Given the description of an element on the screen output the (x, y) to click on. 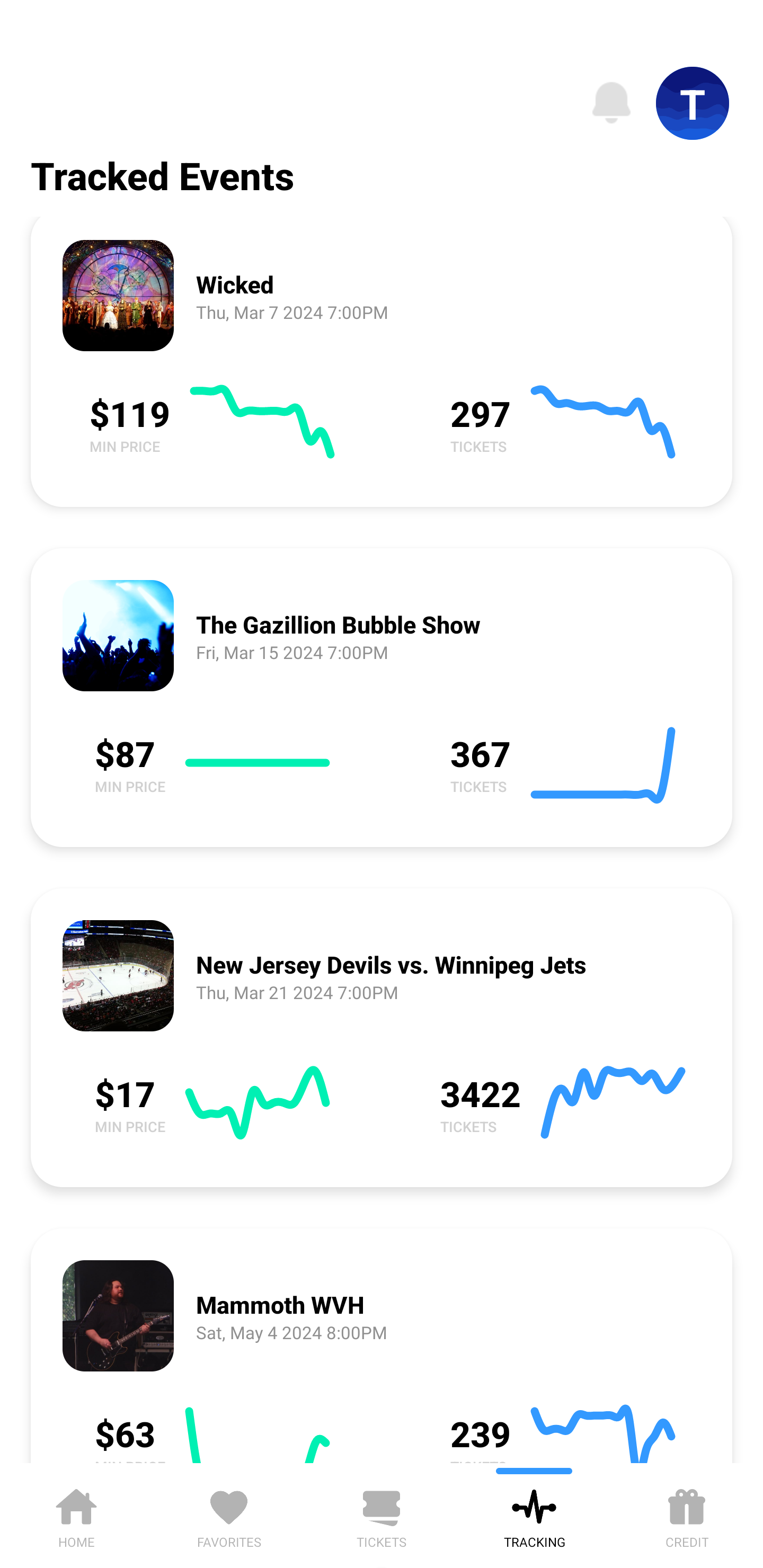
T (692, 103)
HOME (76, 1515)
FAVORITES (228, 1515)
TICKETS (381, 1515)
TRACKING (533, 1515)
CREDIT (686, 1515)
